Given the description of an element on the screen output the (x, y) to click on. 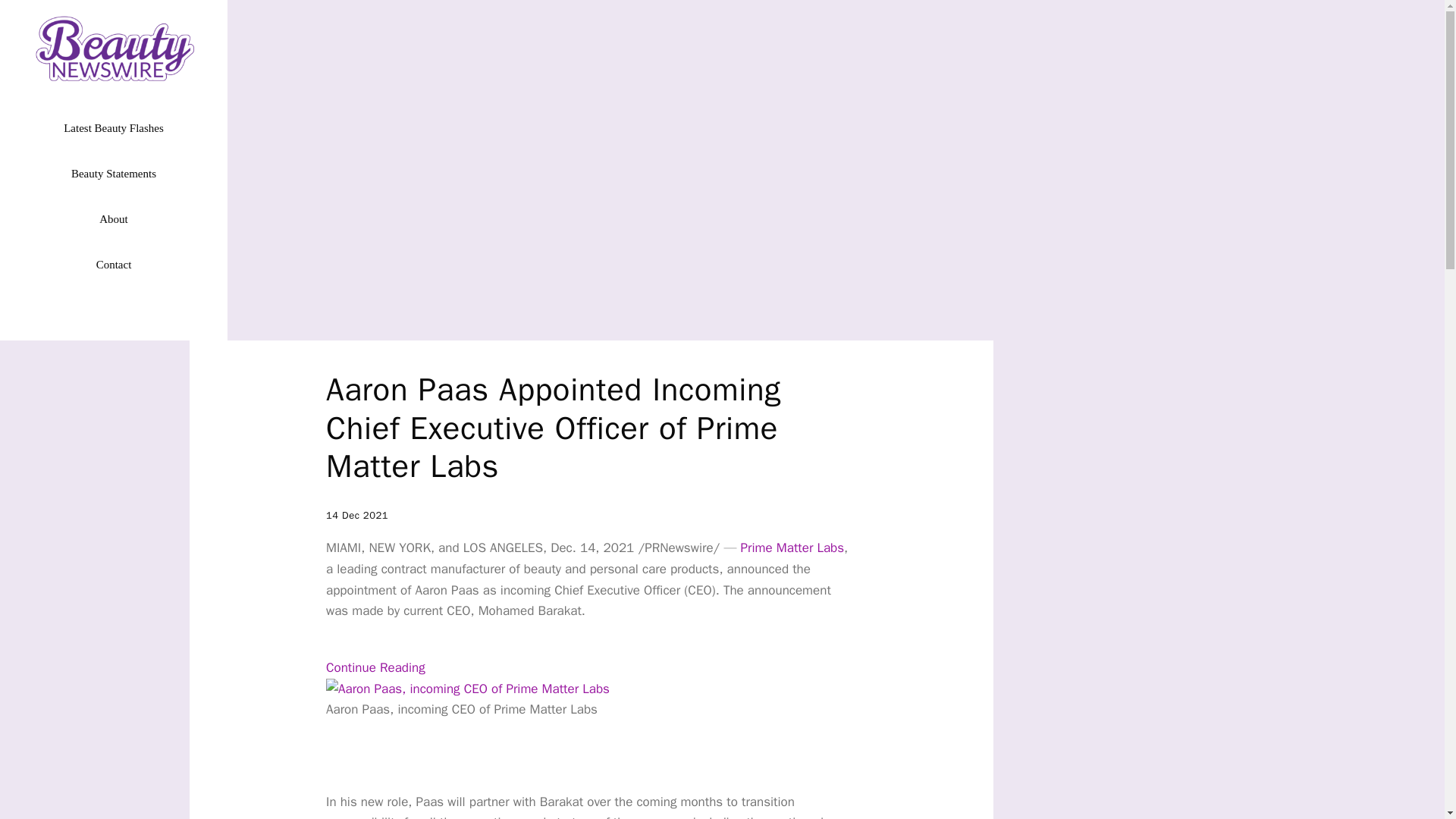
About (113, 218)
Aaron Paas, incoming CEO of Prime Matter Labs (468, 689)
Contact (113, 264)
Latest Beauty Flashes (113, 127)
Continue Reading (375, 667)
Beauty Statements (113, 173)
Continue Reading (375, 667)
Prime Matter Labs (792, 547)
